Given the description of an element on the screen output the (x, y) to click on. 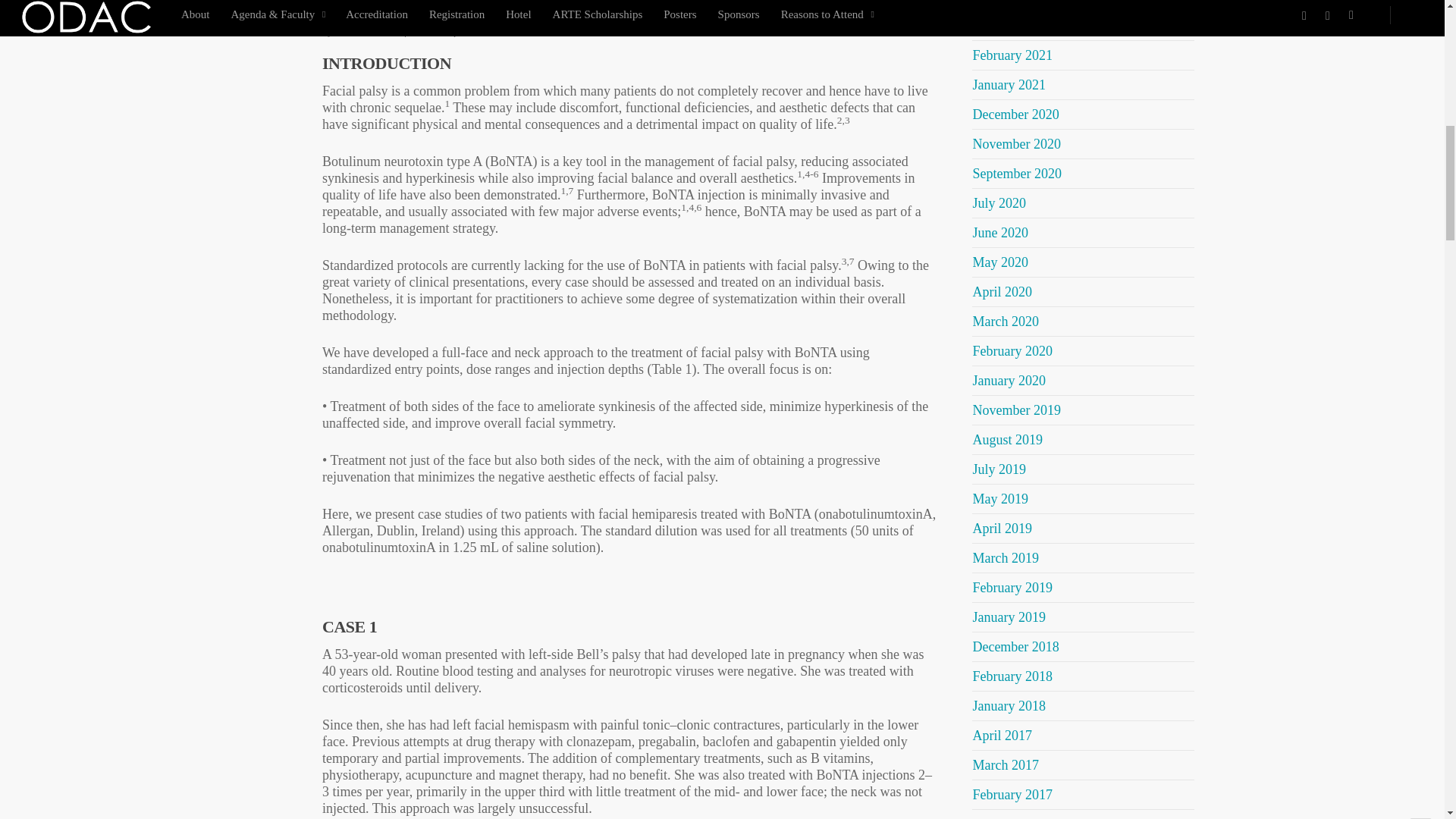
JDD Case Reports (439, 31)
Berenice Bonalanza (367, 31)
Posts by Berenice Bonalanza (367, 31)
